Given the description of an element on the screen output the (x, y) to click on. 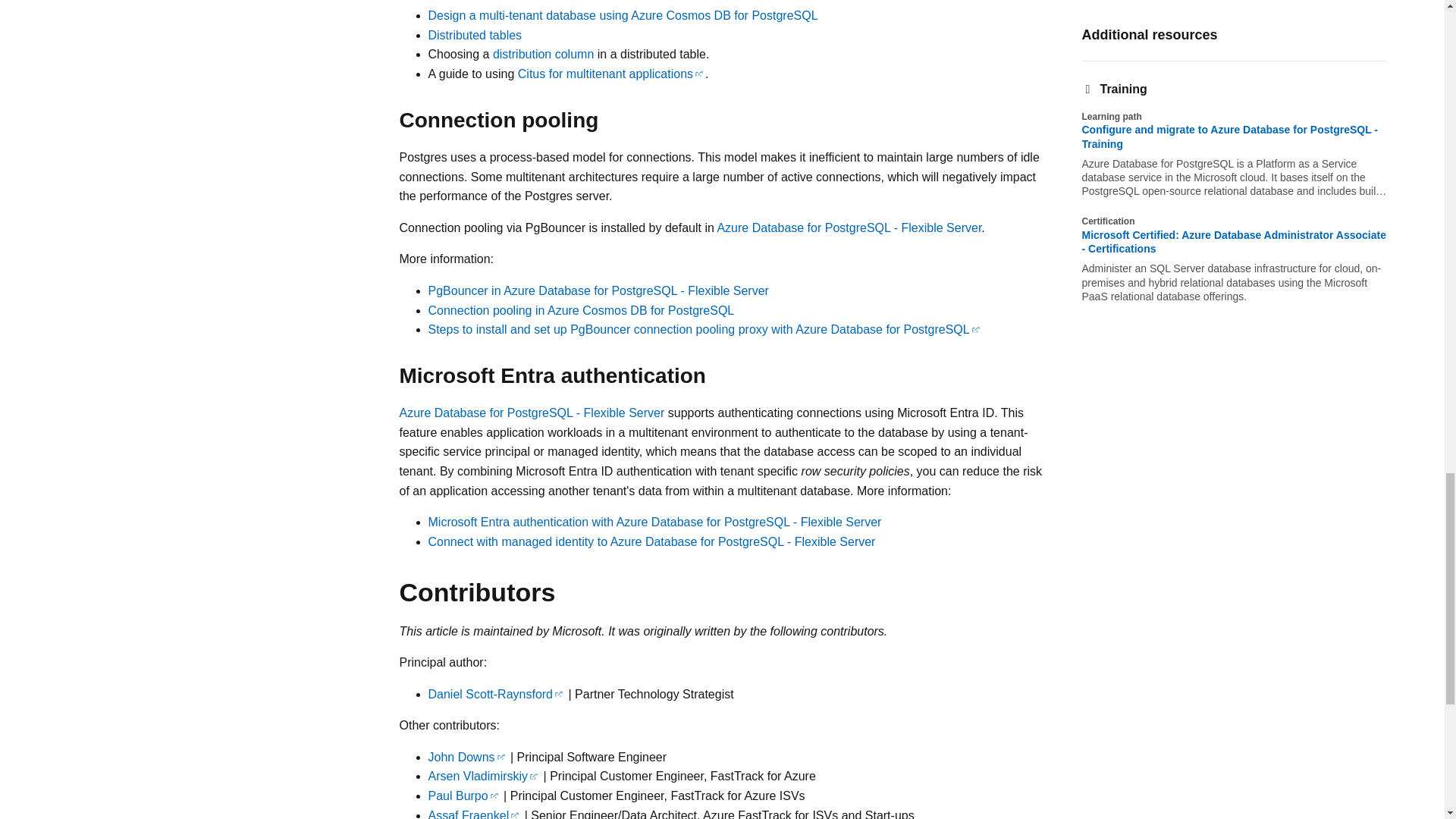
Distributed tables (474, 34)
distribution column (543, 53)
